Given the description of an element on the screen output the (x, y) to click on. 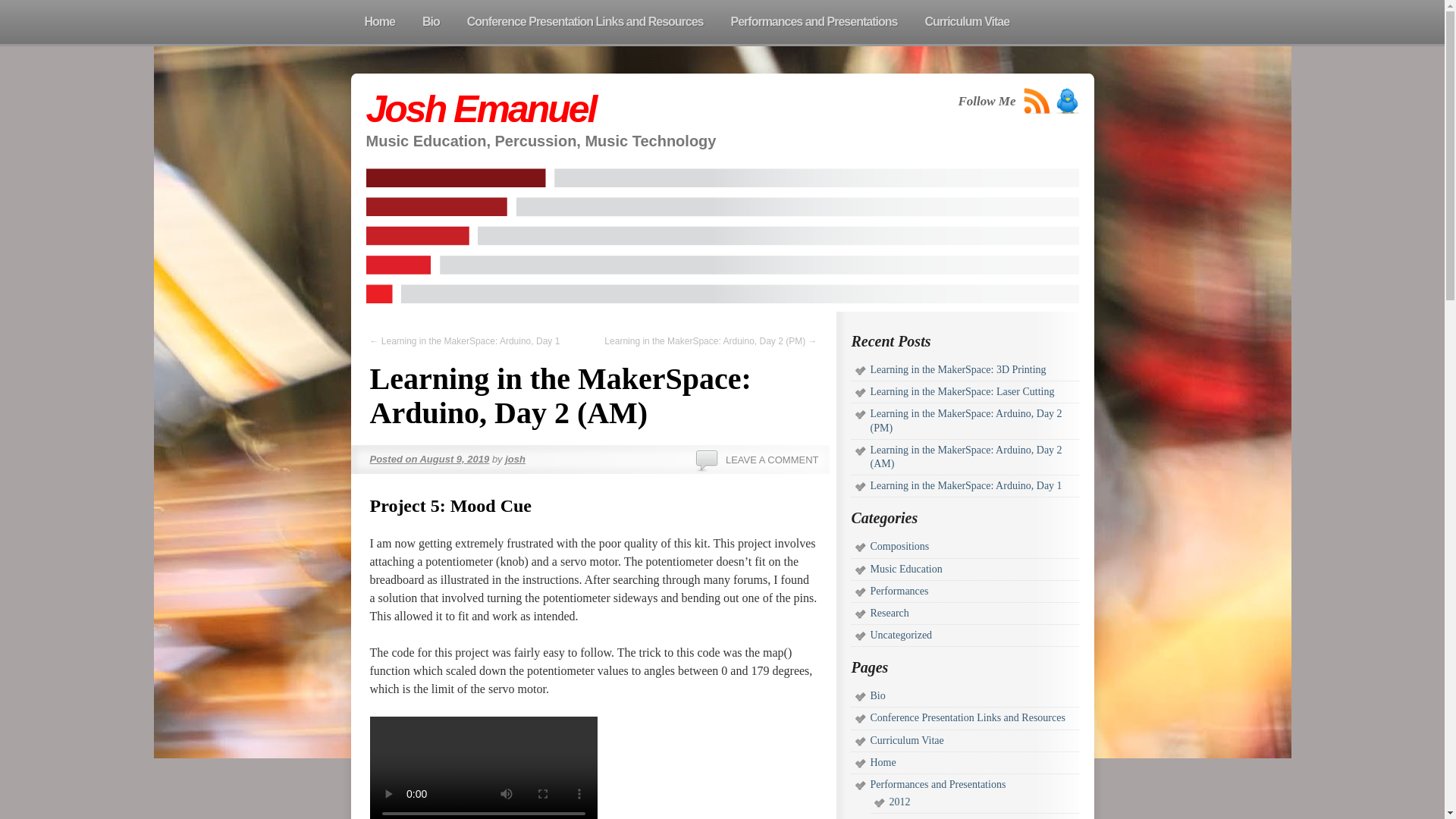
Bio (877, 695)
RSS Feed (1037, 100)
Josh Emanuel (480, 108)
Research (889, 613)
Conference Presentation Links and Resources (967, 717)
Bio (430, 22)
Learning in the MakerSpace: Laser Cutting (962, 391)
Learning in the MakerSpace: Arduino, Day 1 (966, 485)
Posted on August 9, 2019 (429, 459)
Curriculum Vitae (967, 22)
Josh Emanuel (480, 108)
Music Education (906, 568)
Performances (899, 591)
View all posts by josh (515, 459)
Performances and Presentations (814, 22)
